Given the description of an element on the screen output the (x, y) to click on. 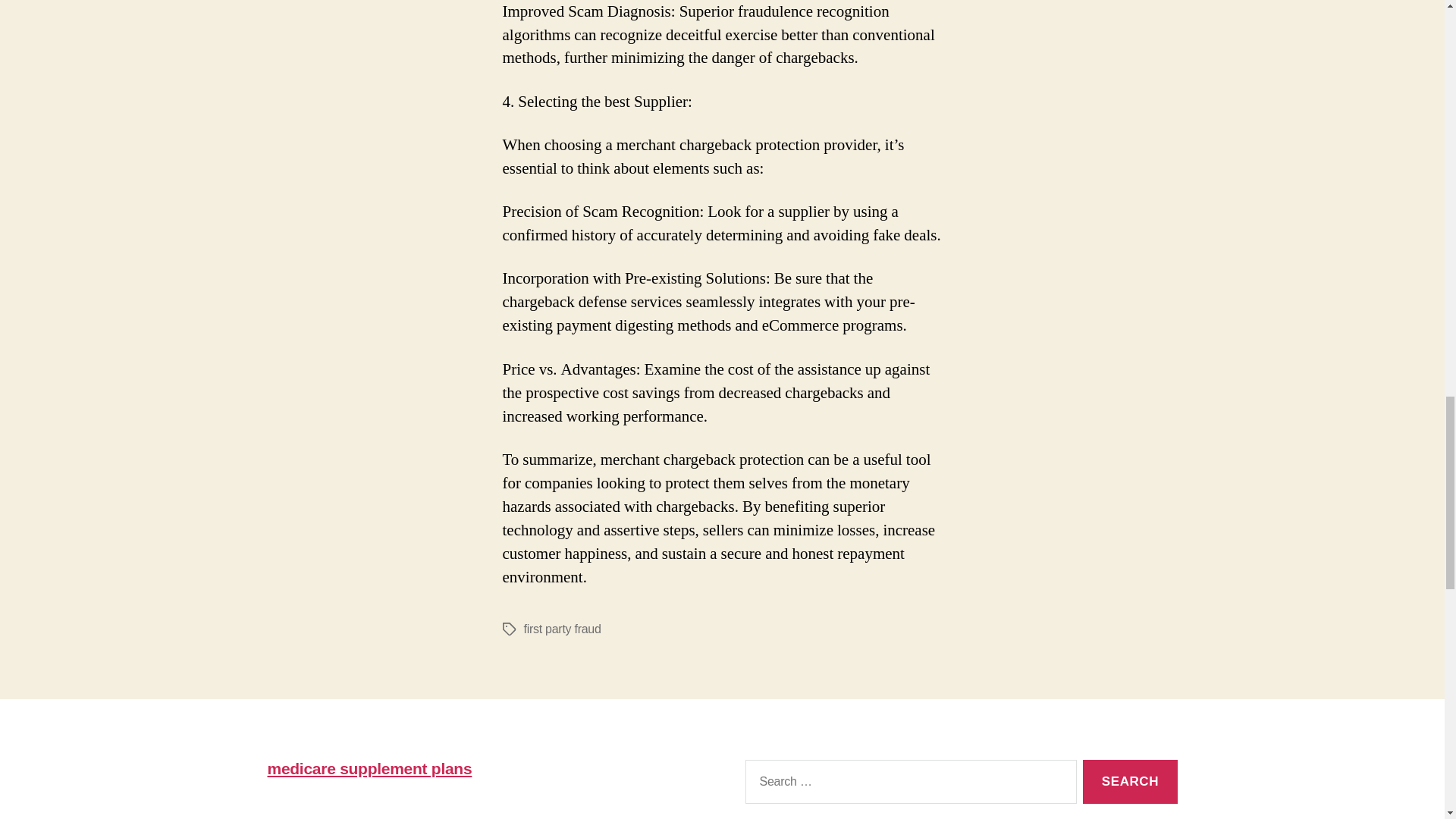
Search (1129, 782)
medicare supplement plans (368, 768)
Search (1129, 782)
Search (1129, 782)
first party fraud (560, 628)
